Given the description of an element on the screen output the (x, y) to click on. 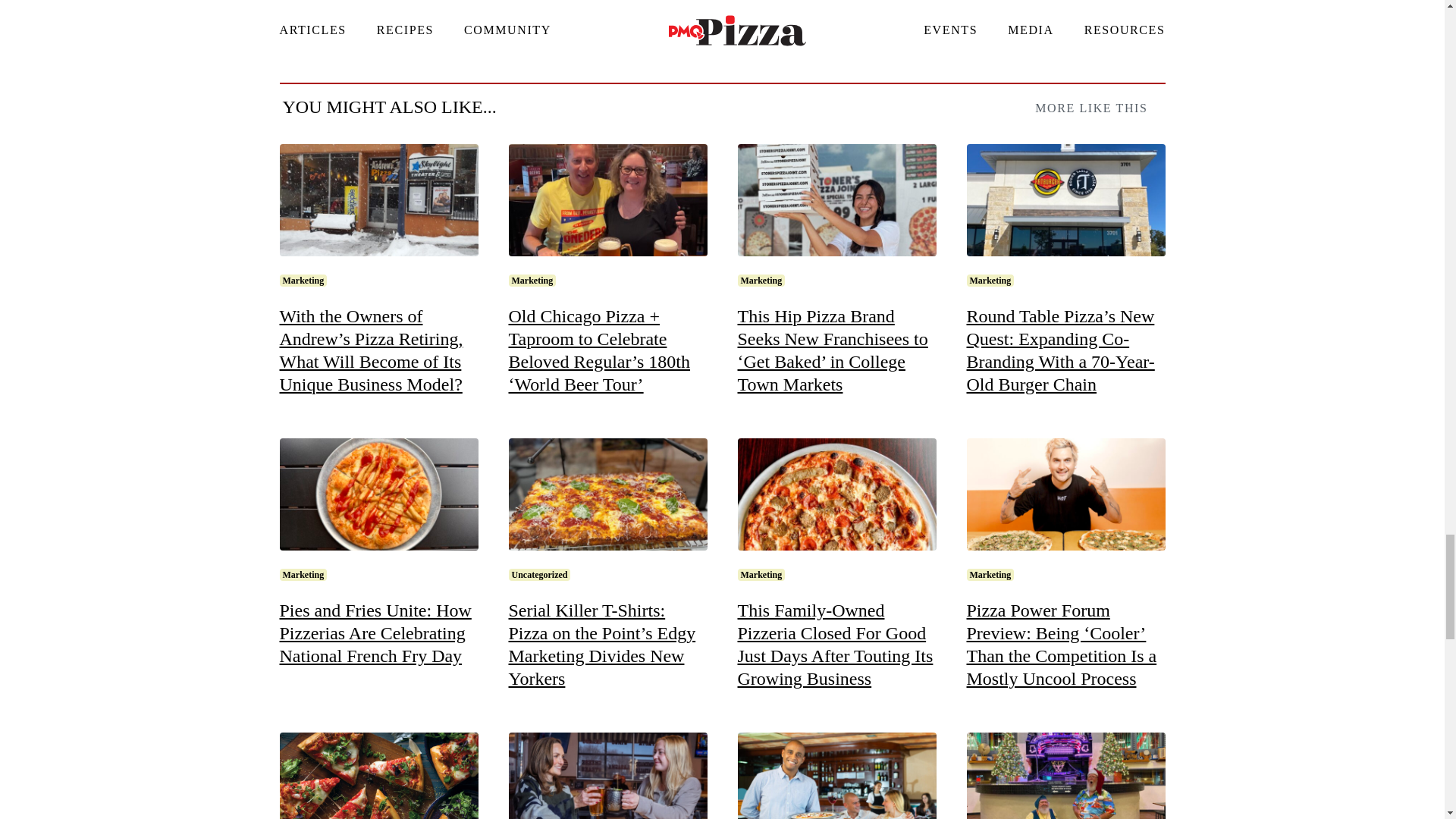
3rd party ad content (721, 6)
